Given the description of an element on the screen output the (x, y) to click on. 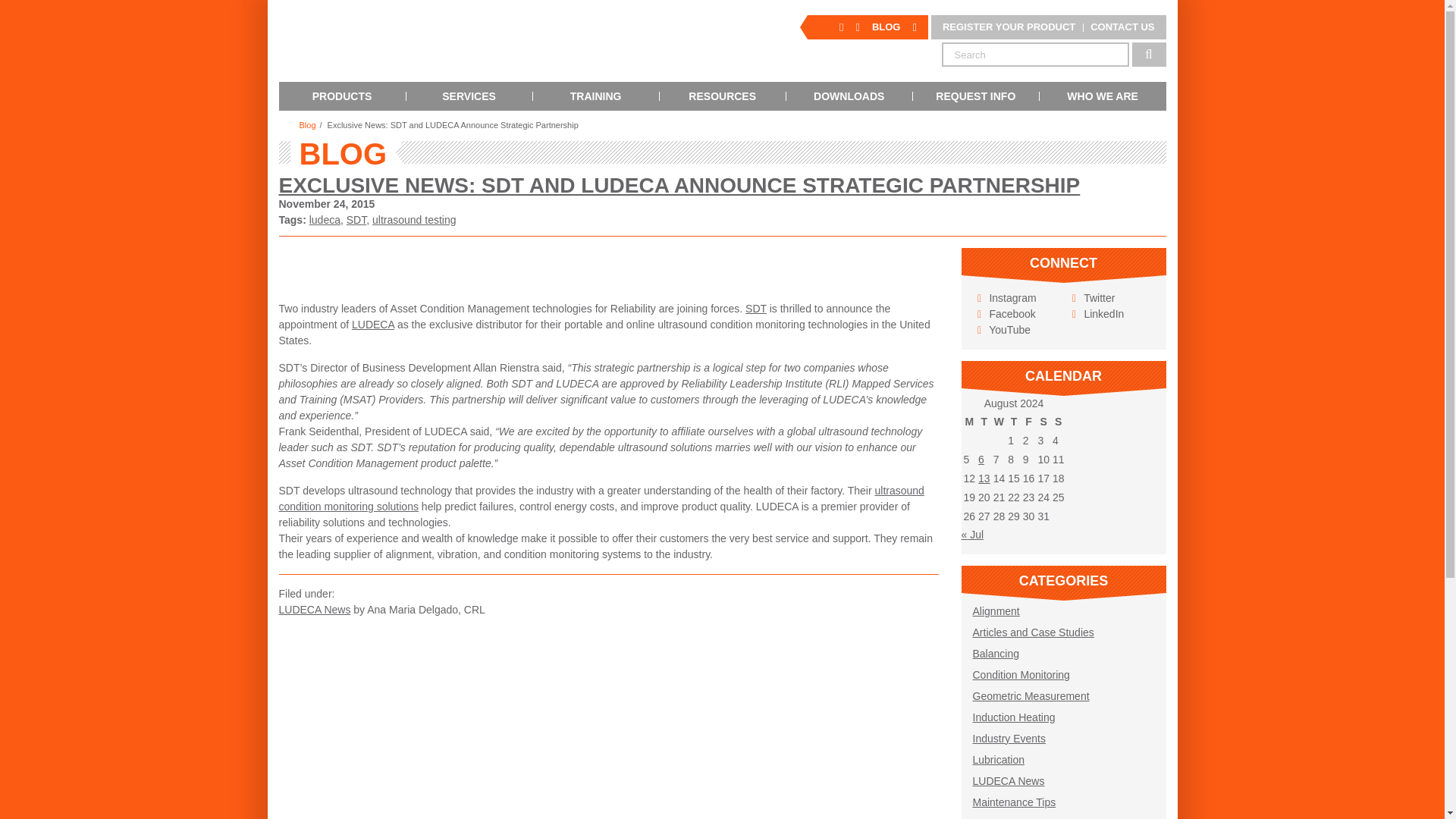
SERVICES (469, 95)
PRODUCTS (342, 95)
TRAINING (595, 95)
BLOG (886, 27)
